Given the description of an element on the screen output the (x, y) to click on. 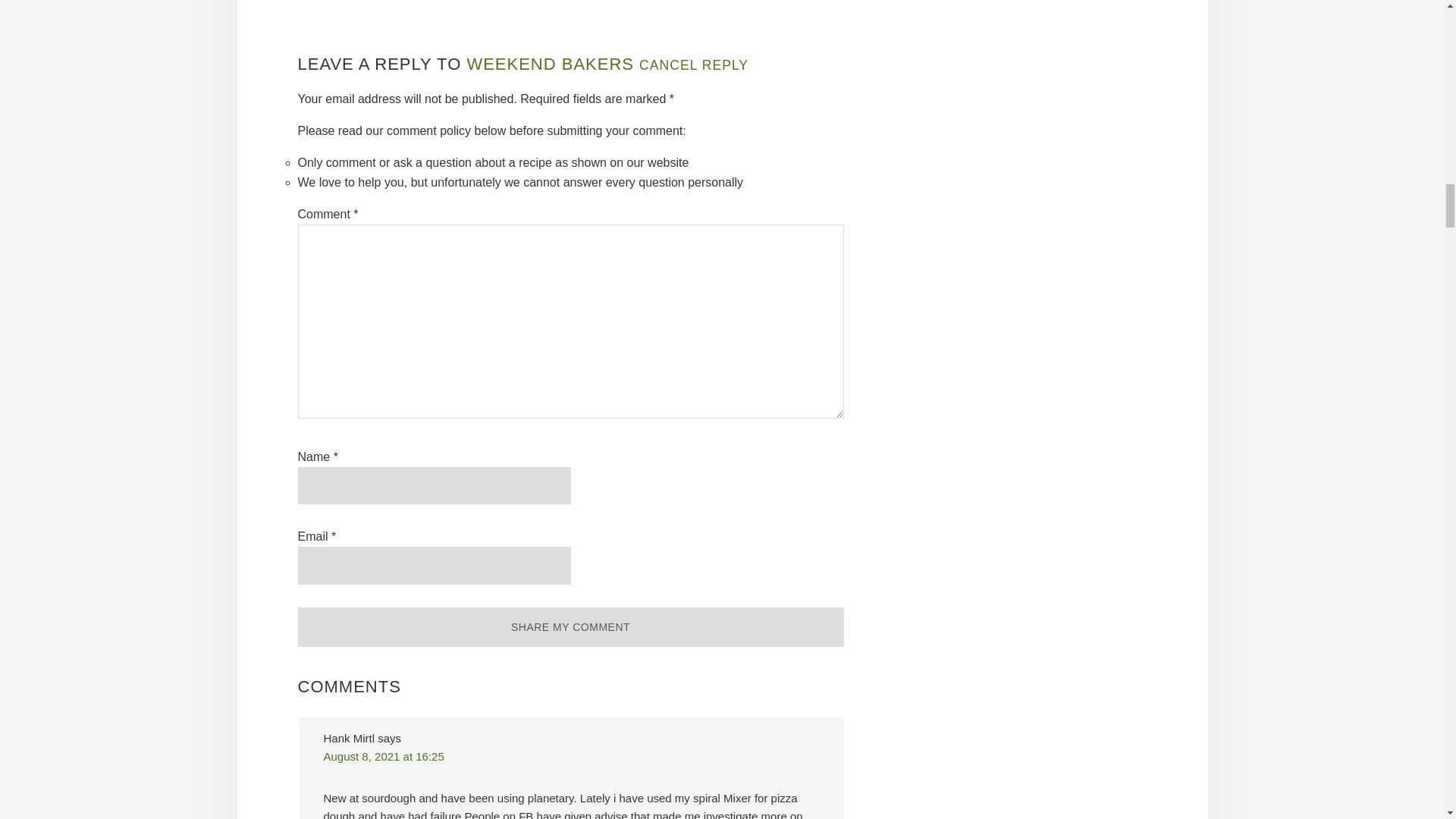
Share My Comment (570, 627)
